Given the description of an element on the screen output the (x, y) to click on. 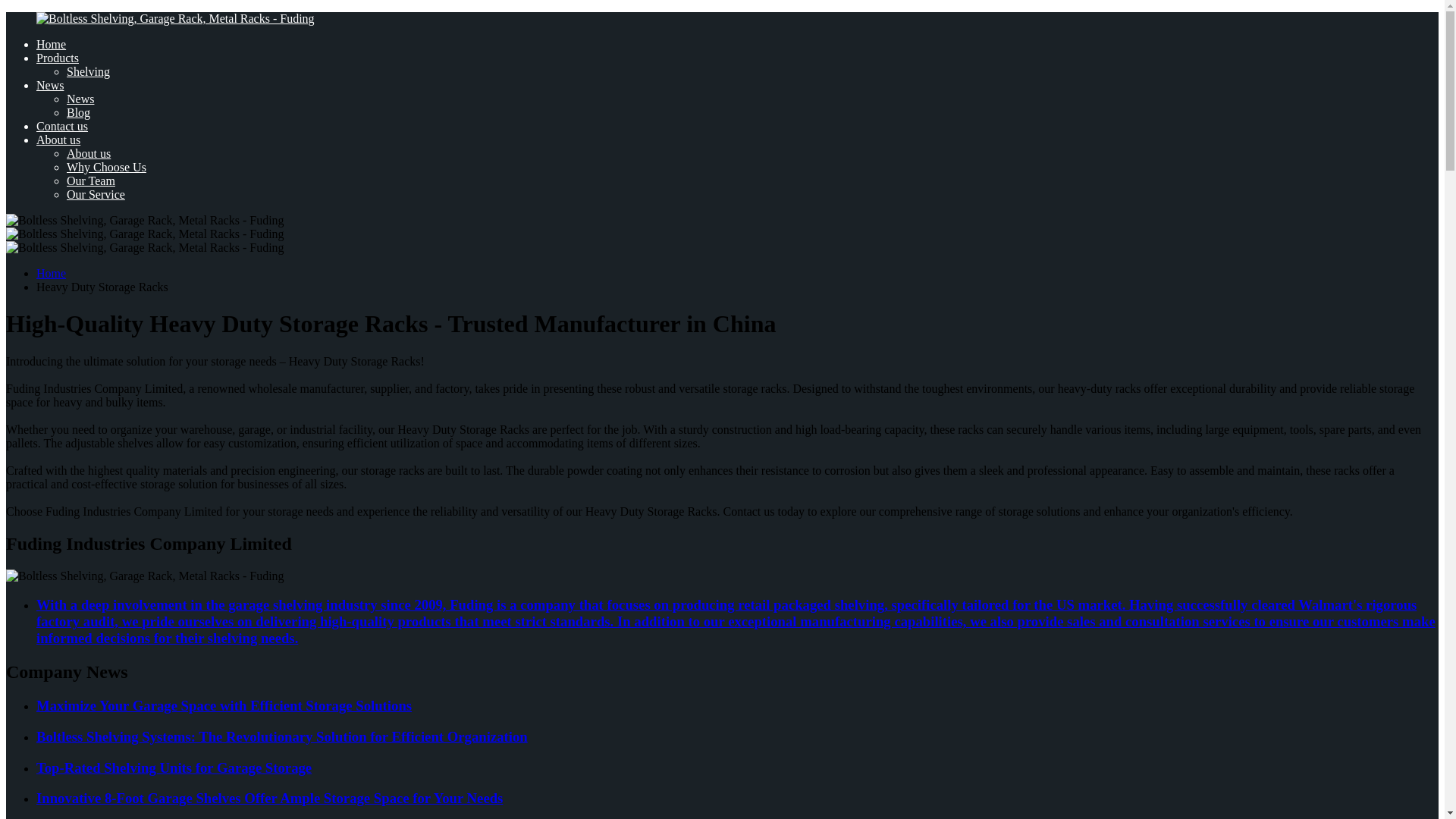
Home (50, 273)
Shelving (88, 71)
News (50, 84)
About us (58, 139)
Why Choose Us (106, 166)
Home (50, 43)
Our Service (95, 194)
Products (57, 57)
Our Team (90, 180)
Blog (78, 112)
